Given the description of an element on the screen output the (x, y) to click on. 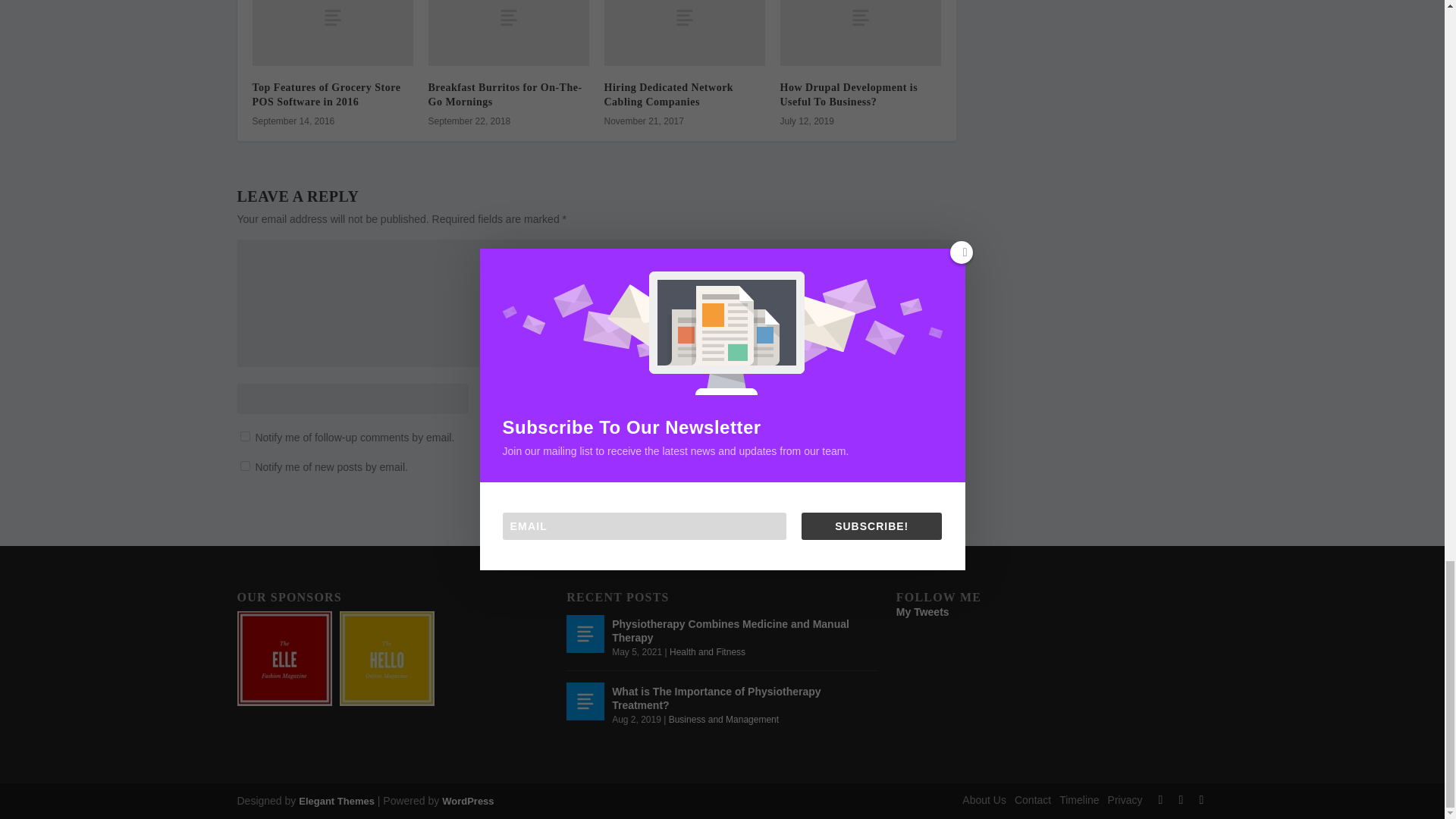
Post Comment (902, 501)
subscribe (244, 436)
subscribe (244, 465)
